Given the description of an element on the screen output the (x, y) to click on. 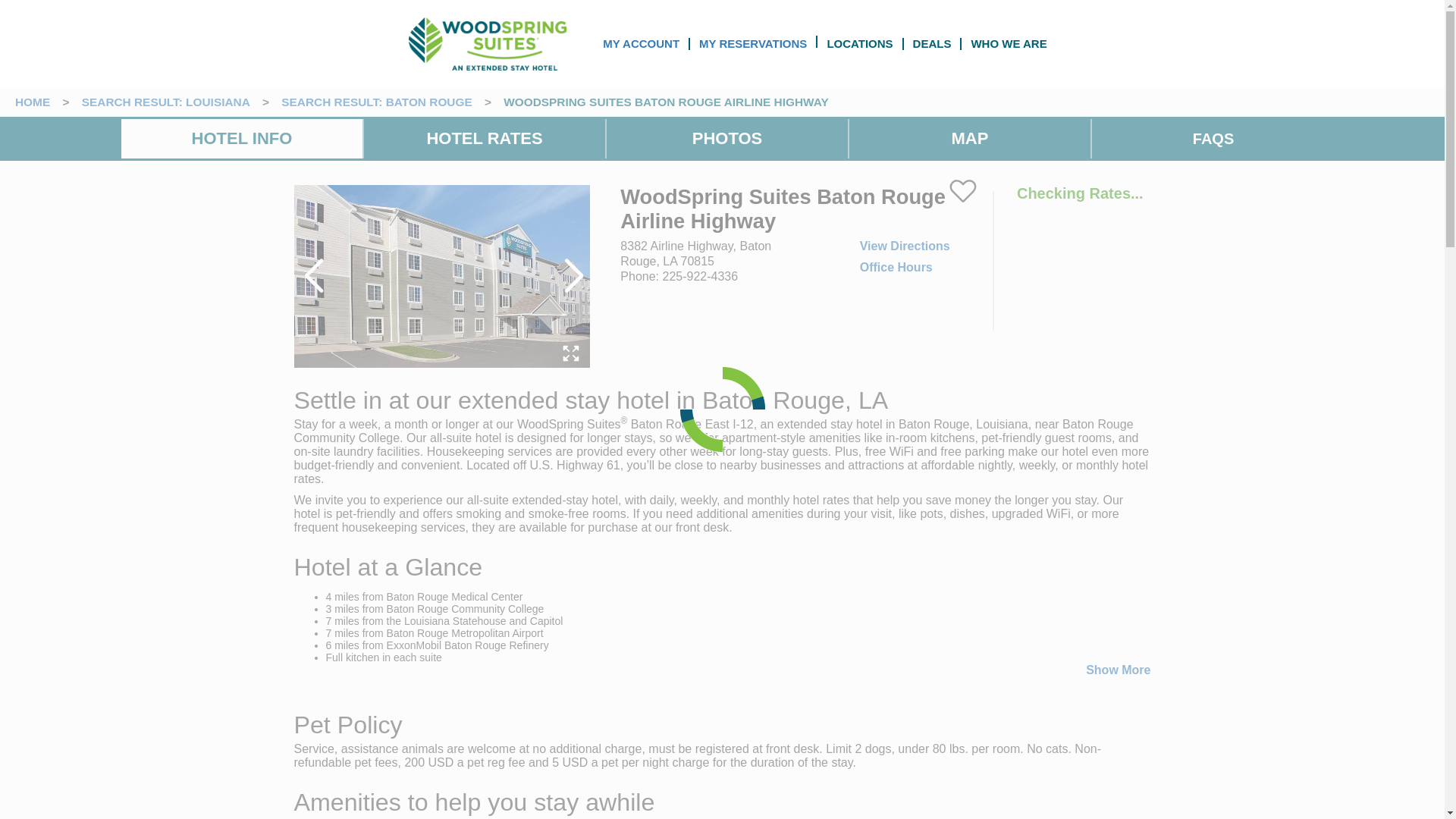
DEALS (932, 42)
SEARCH RESULT: LOUISIANA (165, 101)
HOME (31, 101)
MAP (970, 138)
FAQS (1212, 139)
HOTEL INFO (242, 138)
PHOTOS (727, 138)
WHO WE ARE (1008, 42)
SEARCH RESULT: BATON ROUGE (376, 101)
HOTEL RATES (483, 138)
